Given the description of an element on the screen output the (x, y) to click on. 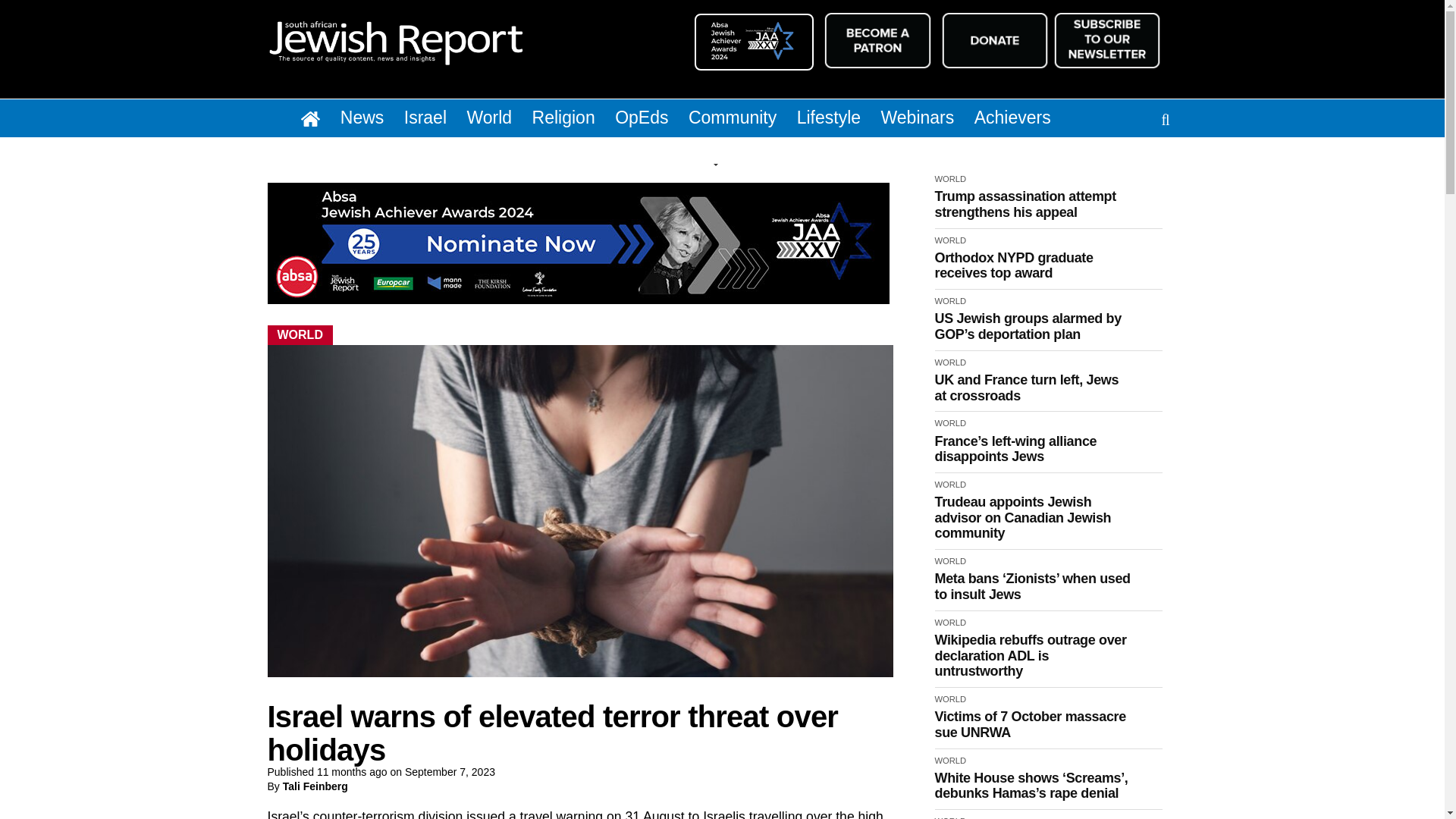
News (370, 119)
Posts by Tali Feinberg (314, 786)
Israel (433, 119)
ABSA Jewish Achiever Awards 2024 Nominations (754, 40)
